Given the description of an element on the screen output the (x, y) to click on. 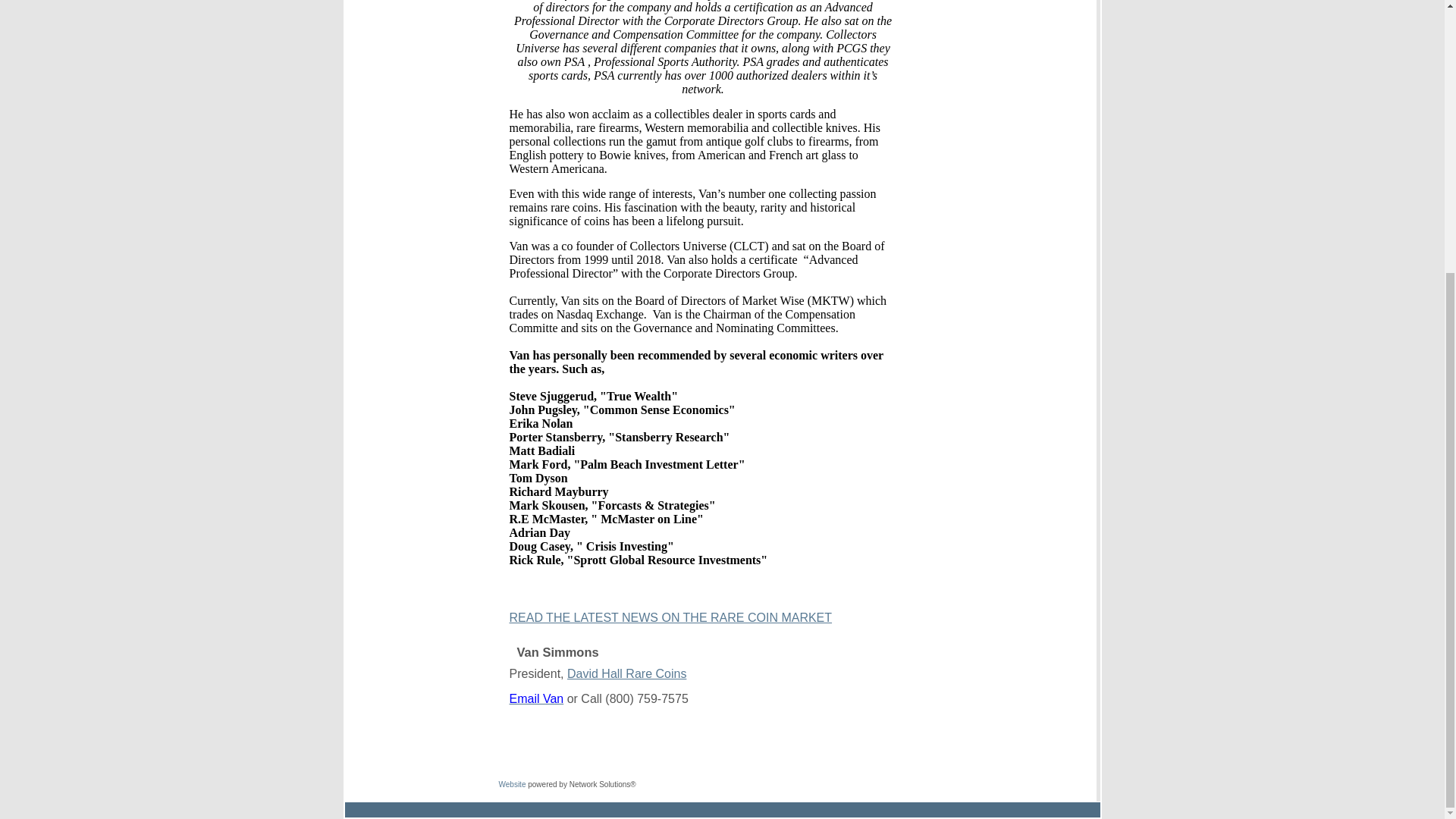
Website (512, 784)
Website (512, 784)
Email Van (536, 699)
David Hall Rare Coins (626, 674)
READ THE LATEST NEWS ON THE RARE COIN MARKET (670, 618)
